Given the description of an element on the screen output the (x, y) to click on. 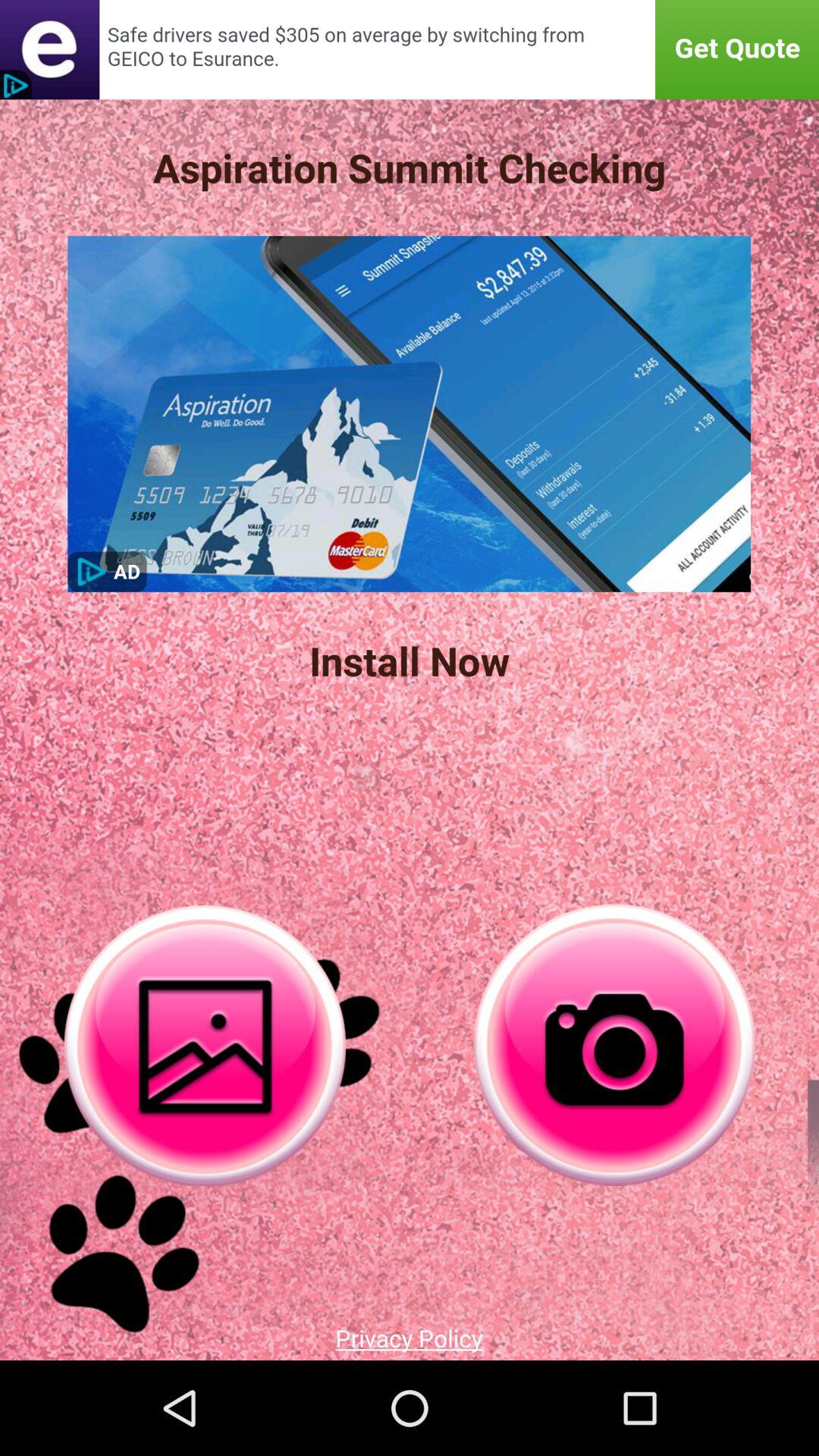
an advertisement (409, 49)
